Given the description of an element on the screen output the (x, y) to click on. 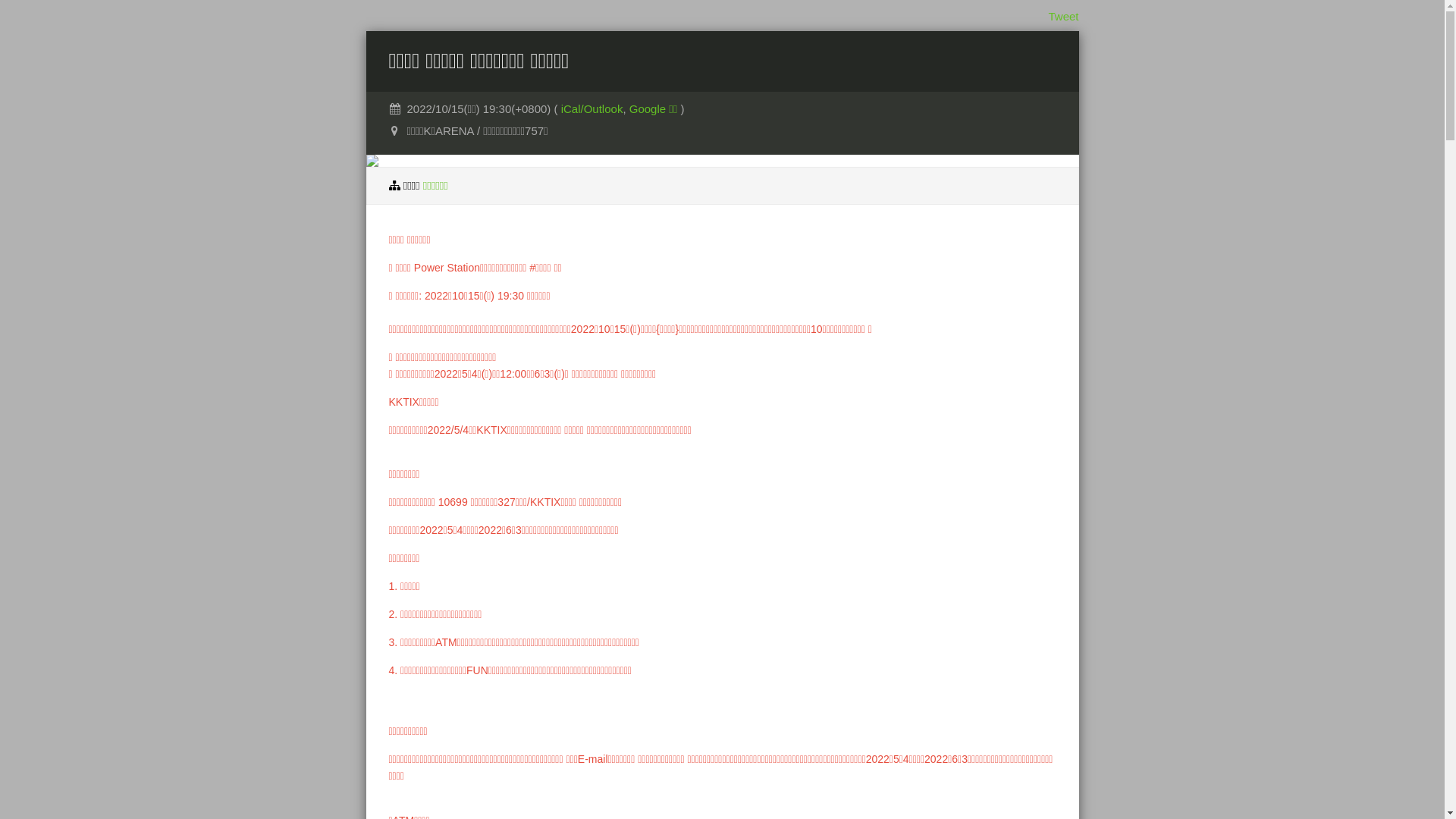
Tweet Element type: text (1063, 15)
iCal/Outlook Element type: text (592, 108)
